Given the description of an element on the screen output the (x, y) to click on. 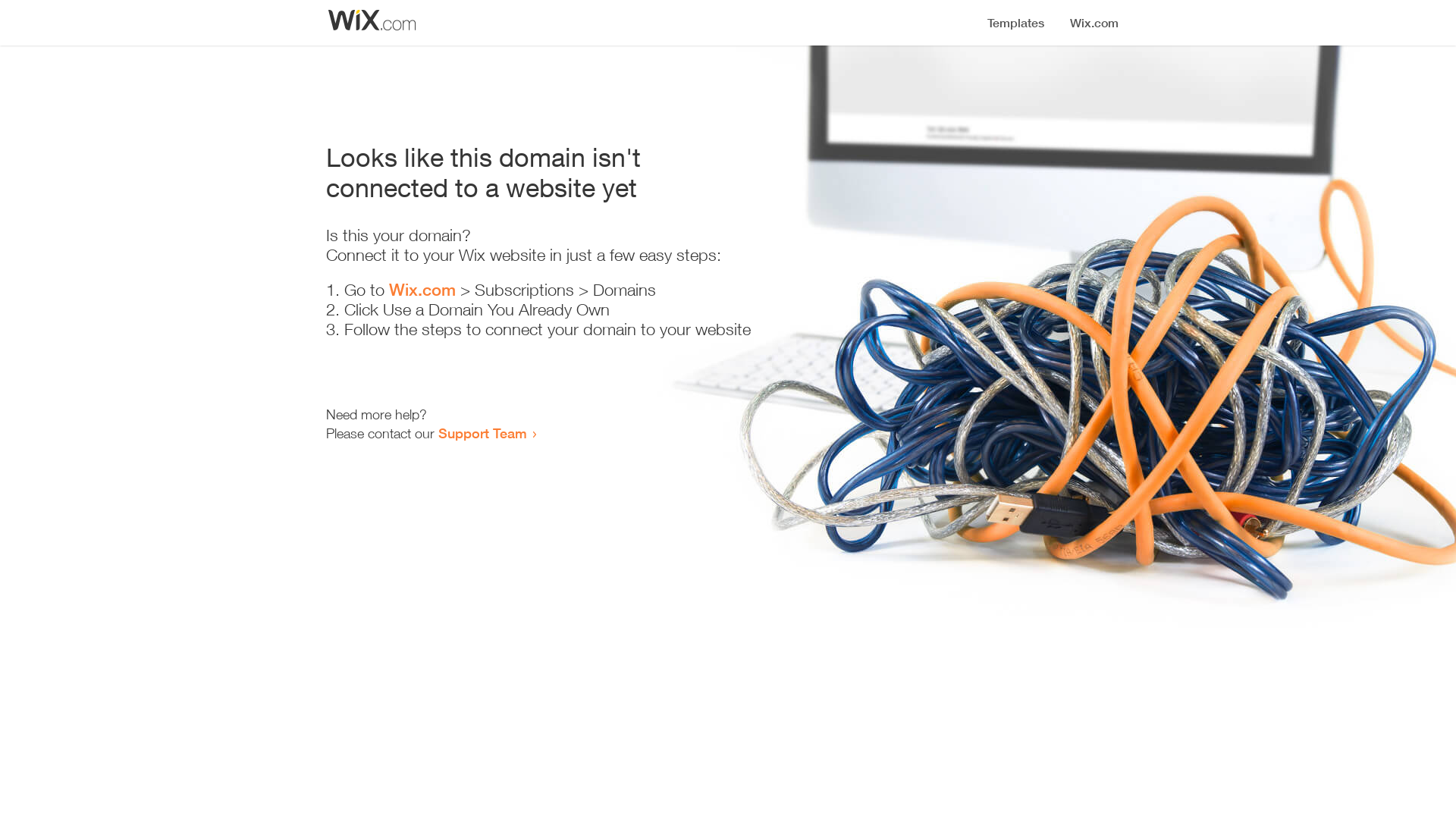
Support Team Element type: text (482, 432)
Wix.com Element type: text (422, 289)
